Given the description of an element on the screen output the (x, y) to click on. 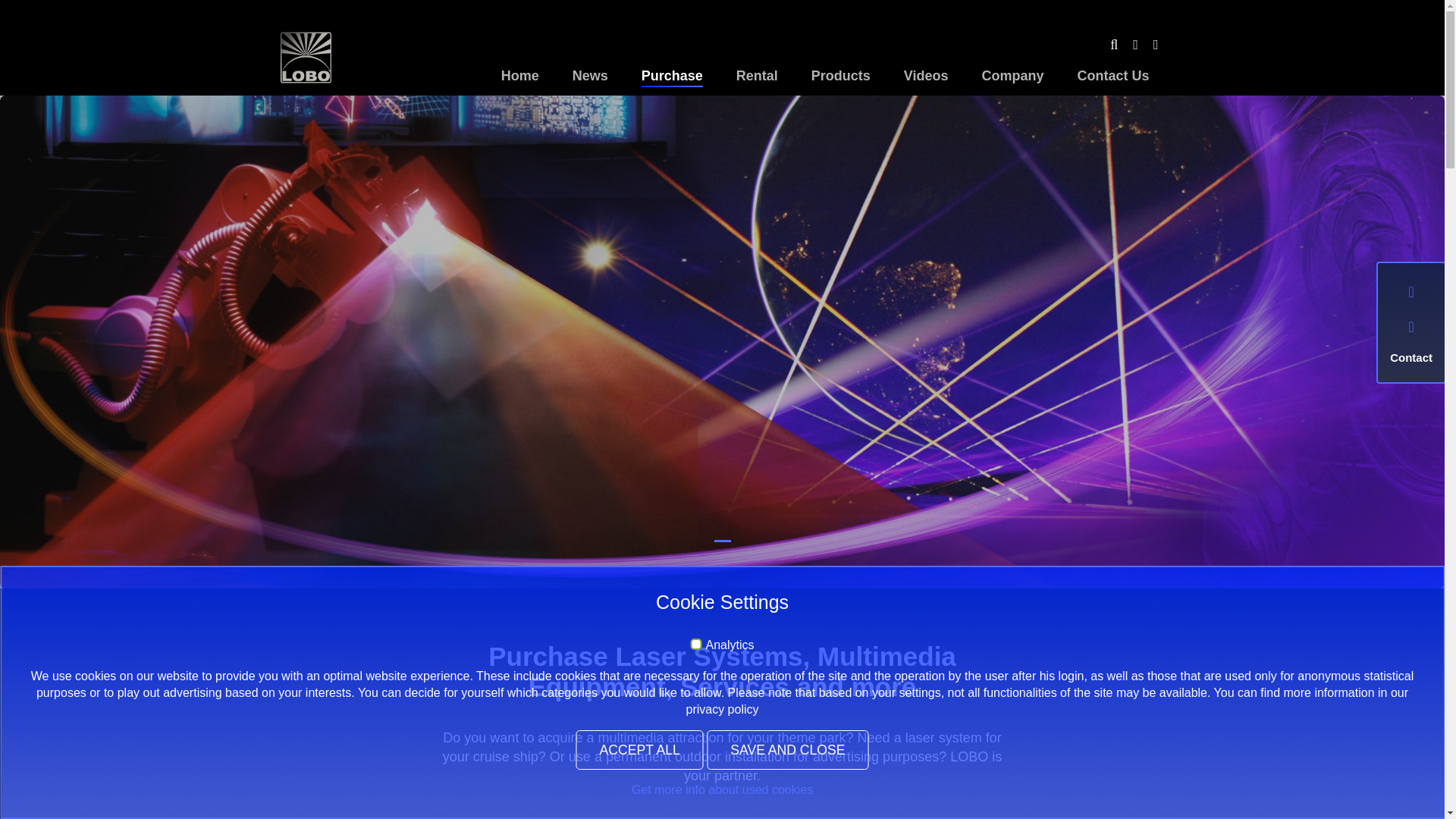
Purchase (671, 76)
Rental (756, 76)
Purchase (671, 76)
Videos (925, 76)
News (590, 76)
Home (520, 76)
Products (840, 76)
Company (1011, 76)
Rental (756, 76)
Company (1011, 76)
Products (840, 76)
